Given the description of an element on the screen output the (x, y) to click on. 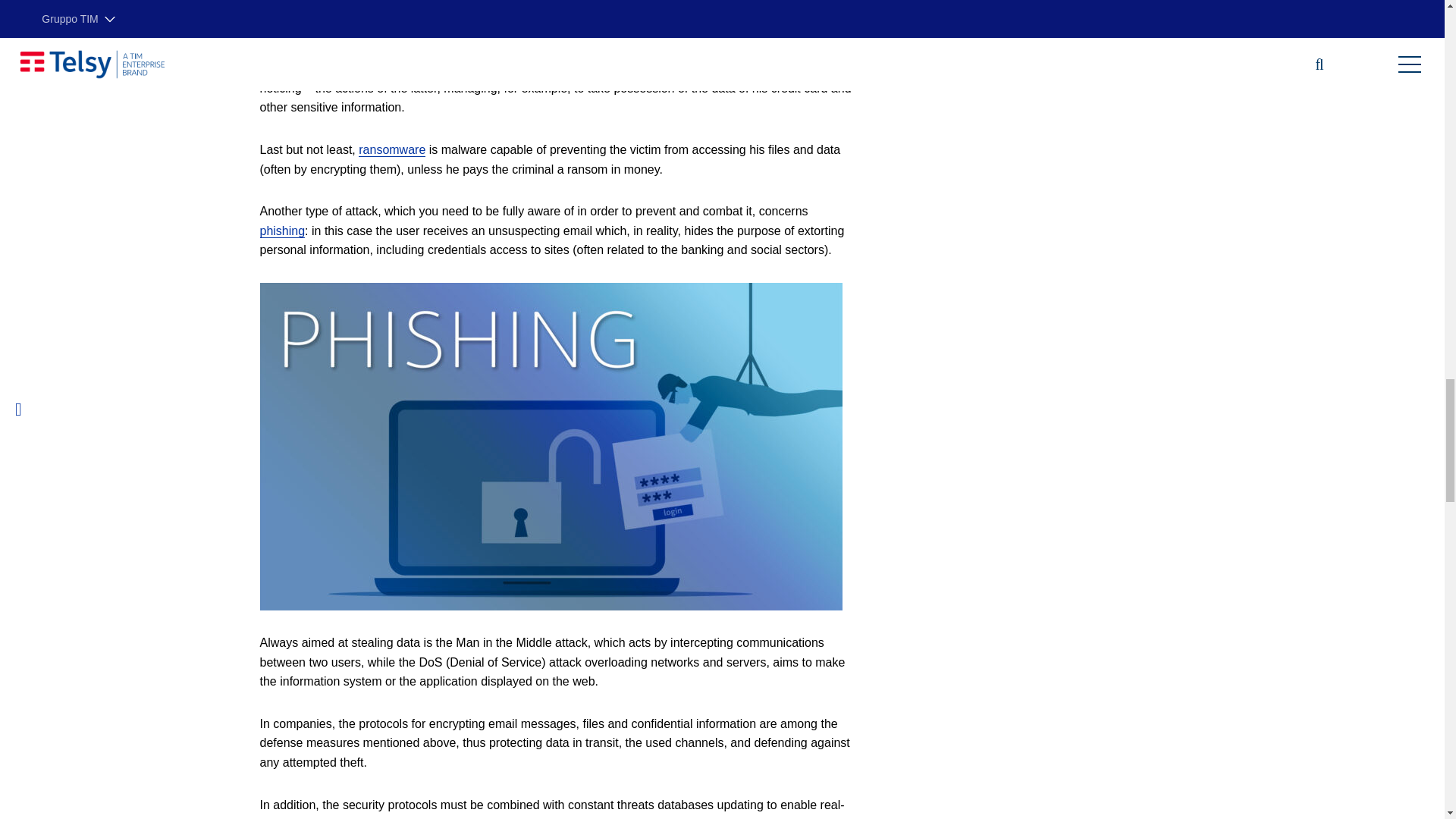
phishing (281, 231)
Spyware (282, 69)
ransomware (391, 150)
